Given the description of an element on the screen output the (x, y) to click on. 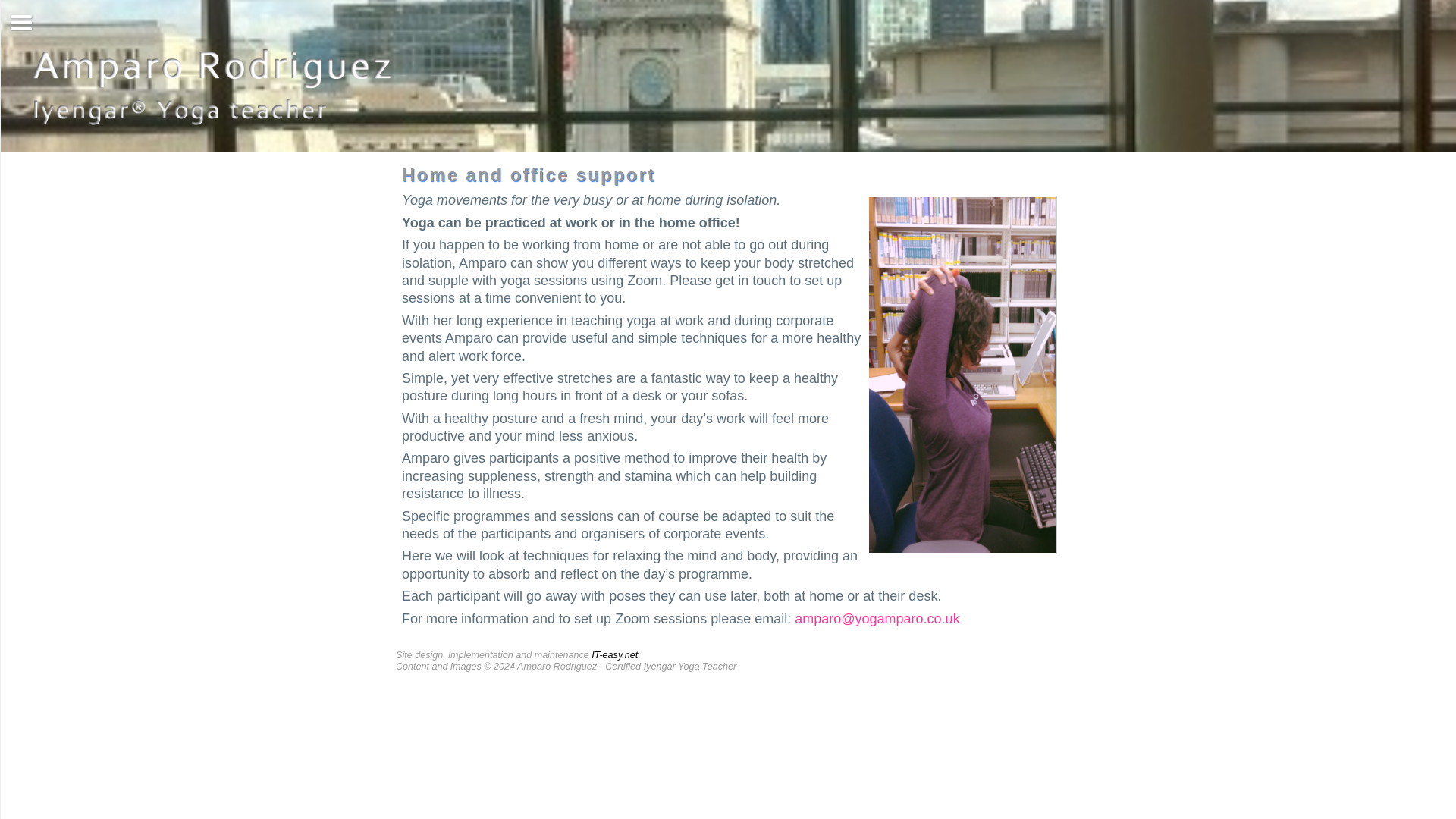
IT-easy.net (614, 655)
Home (7, 79)
Asanas (7, 169)
